Given the description of an element on the screen output the (x, y) to click on. 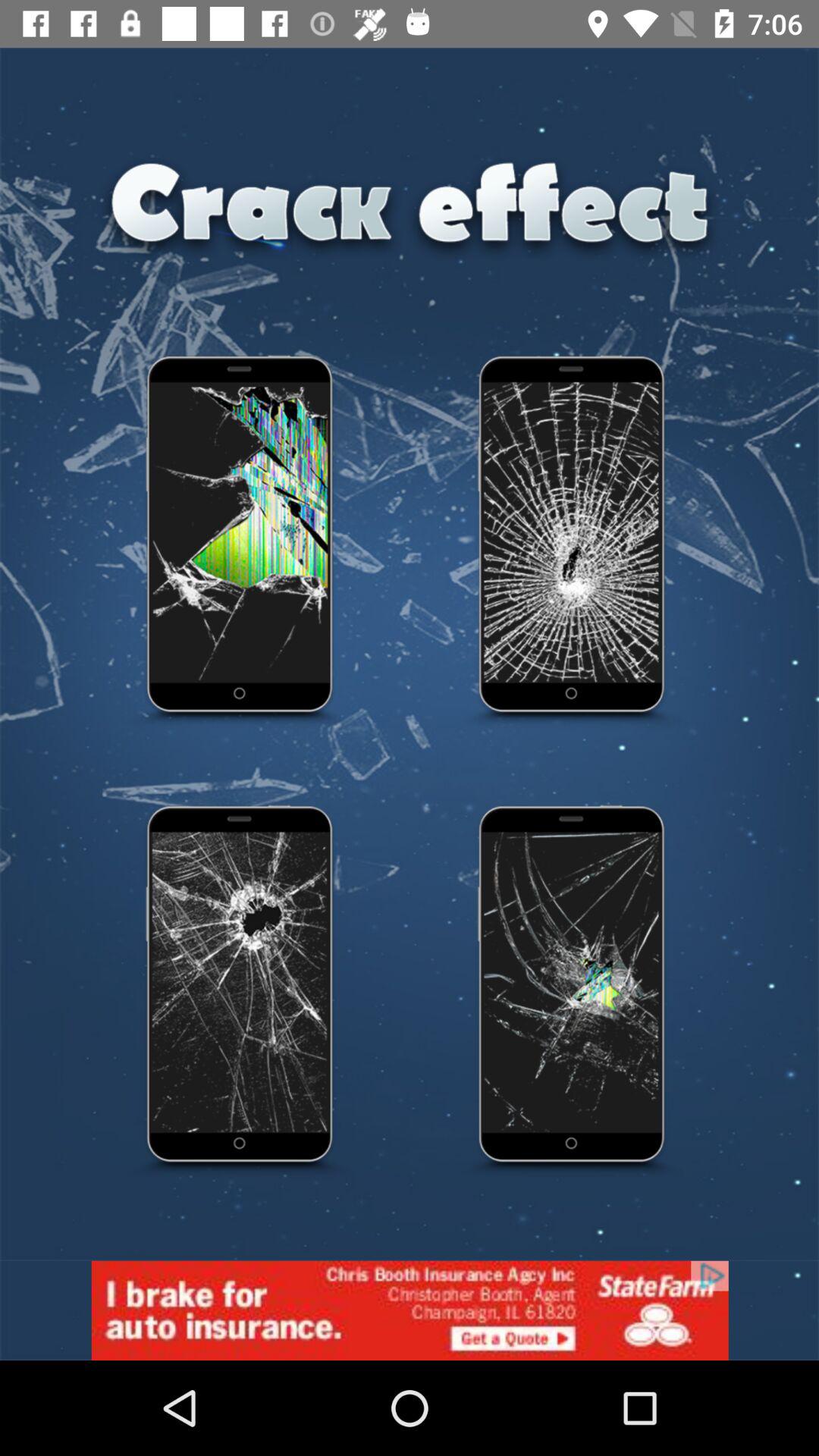
select effect (240, 542)
